Given the description of an element on the screen output the (x, y) to click on. 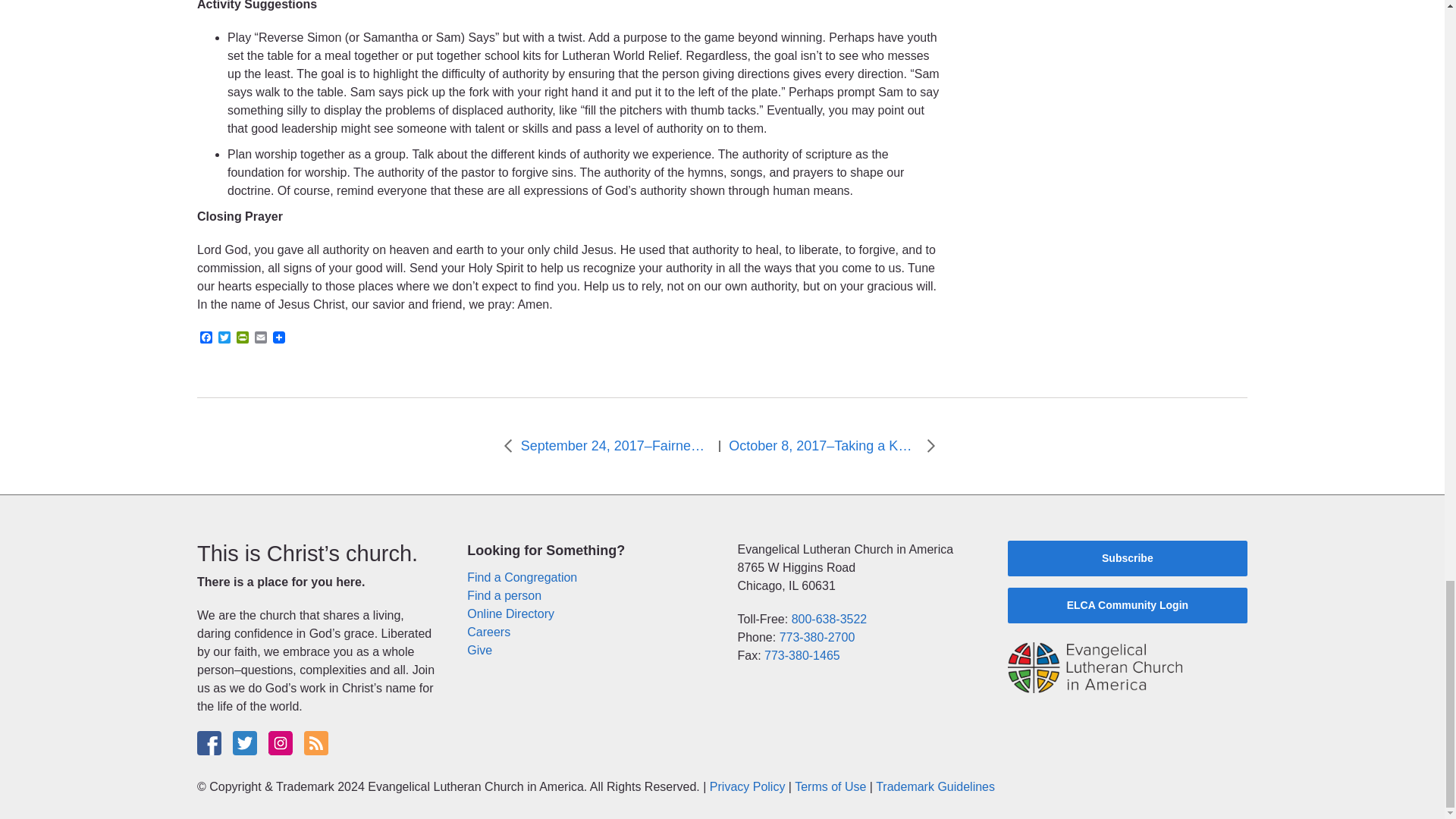
Email (260, 338)
PrintFriendly (241, 338)
Email (260, 338)
Facebook (205, 338)
Facebook (205, 338)
Twitter (223, 338)
PrintFriendly (241, 338)
Twitter (223, 338)
